Given the description of an element on the screen output the (x, y) to click on. 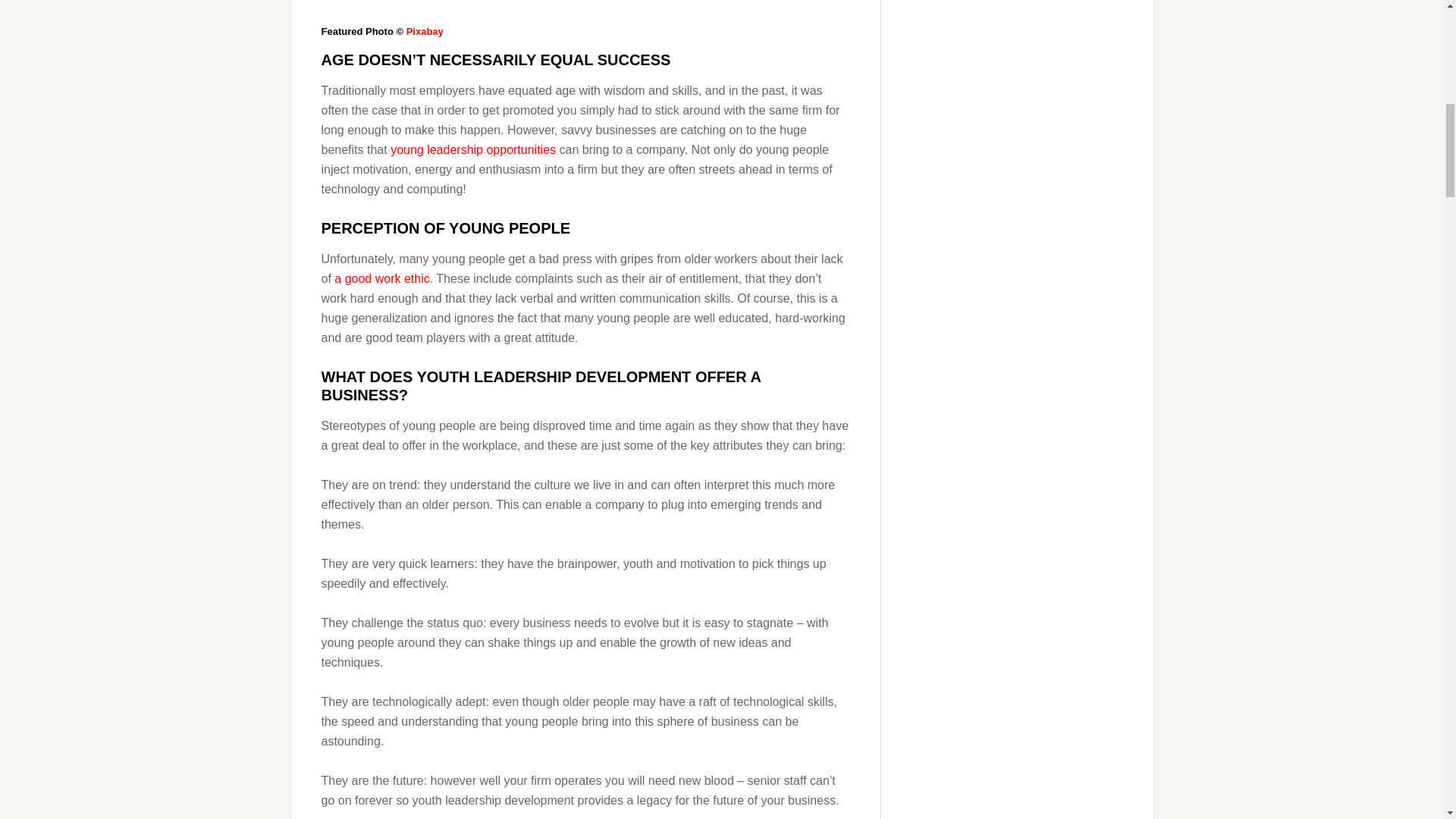
search fo jobs being active (585, 3)
Pixabay (425, 29)
a good work ethic (381, 278)
young leadership opportunities (473, 149)
